Given the description of an element on the screen output the (x, y) to click on. 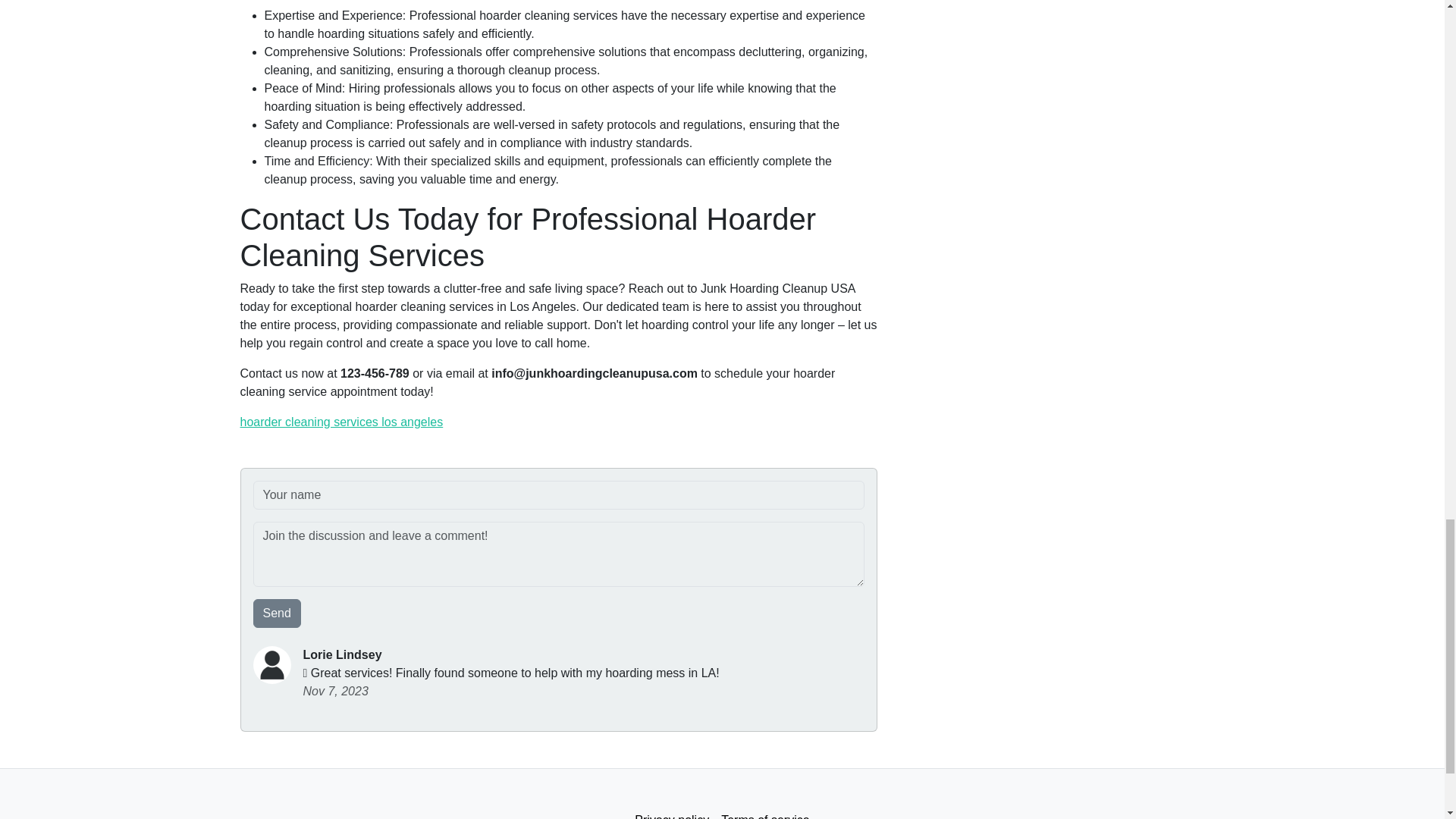
Send (277, 613)
Privacy policy (671, 812)
hoarder cleaning services los angeles (341, 421)
Terms of service (764, 812)
Send (277, 613)
